Given the description of an element on the screen output the (x, y) to click on. 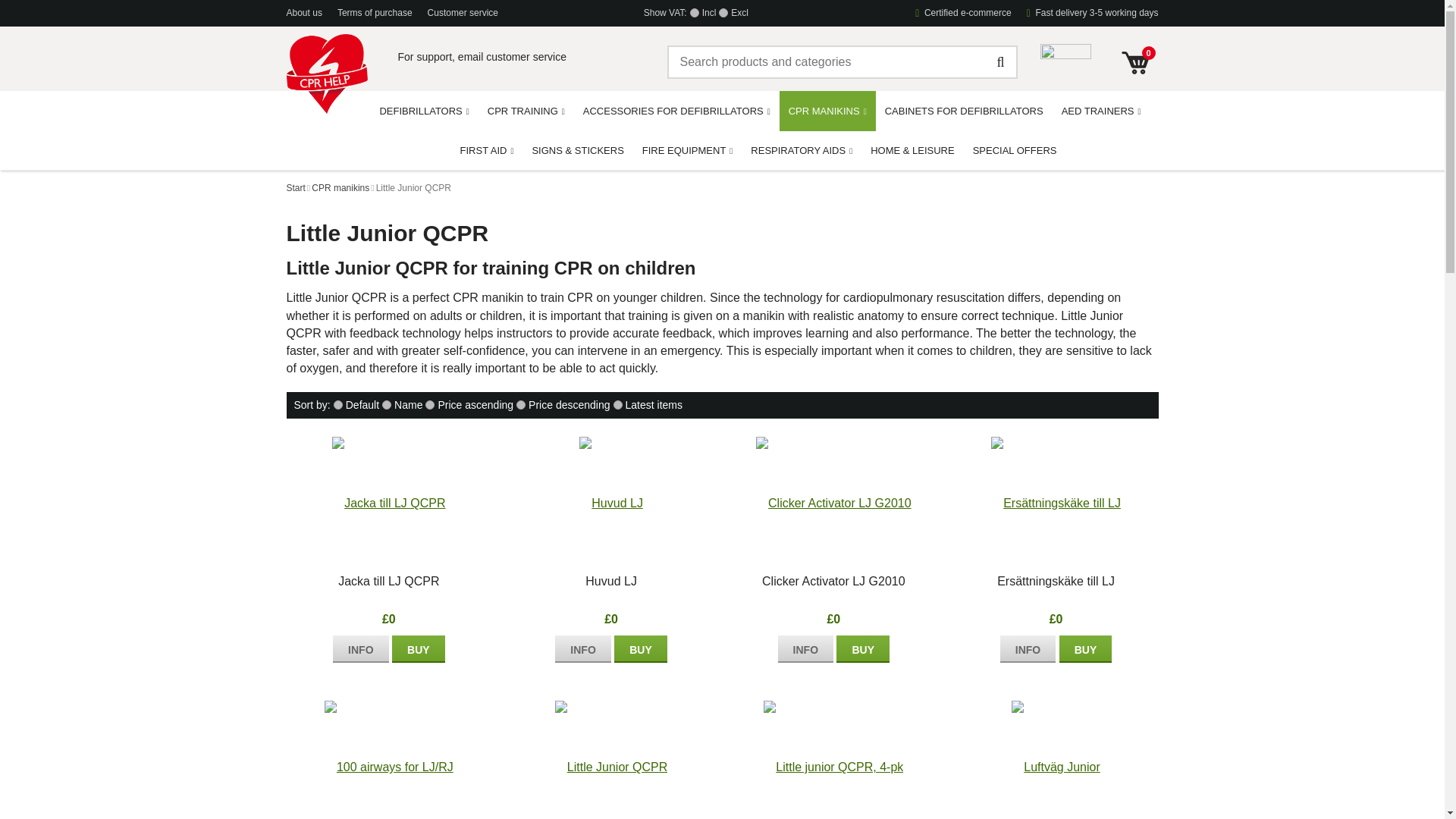
Jacka till LJ QCPR (360, 648)
DEFIBRILLATORS (423, 110)
FIRST AID (486, 149)
BUY (640, 648)
Clicker Activator LJ G2010 (804, 648)
CPR manikins (340, 187)
INFO (360, 648)
CPR MANIKINS (827, 110)
Huvud LJ (582, 648)
RESPIRATORY AIDS (801, 149)
